Given the description of an element on the screen output the (x, y) to click on. 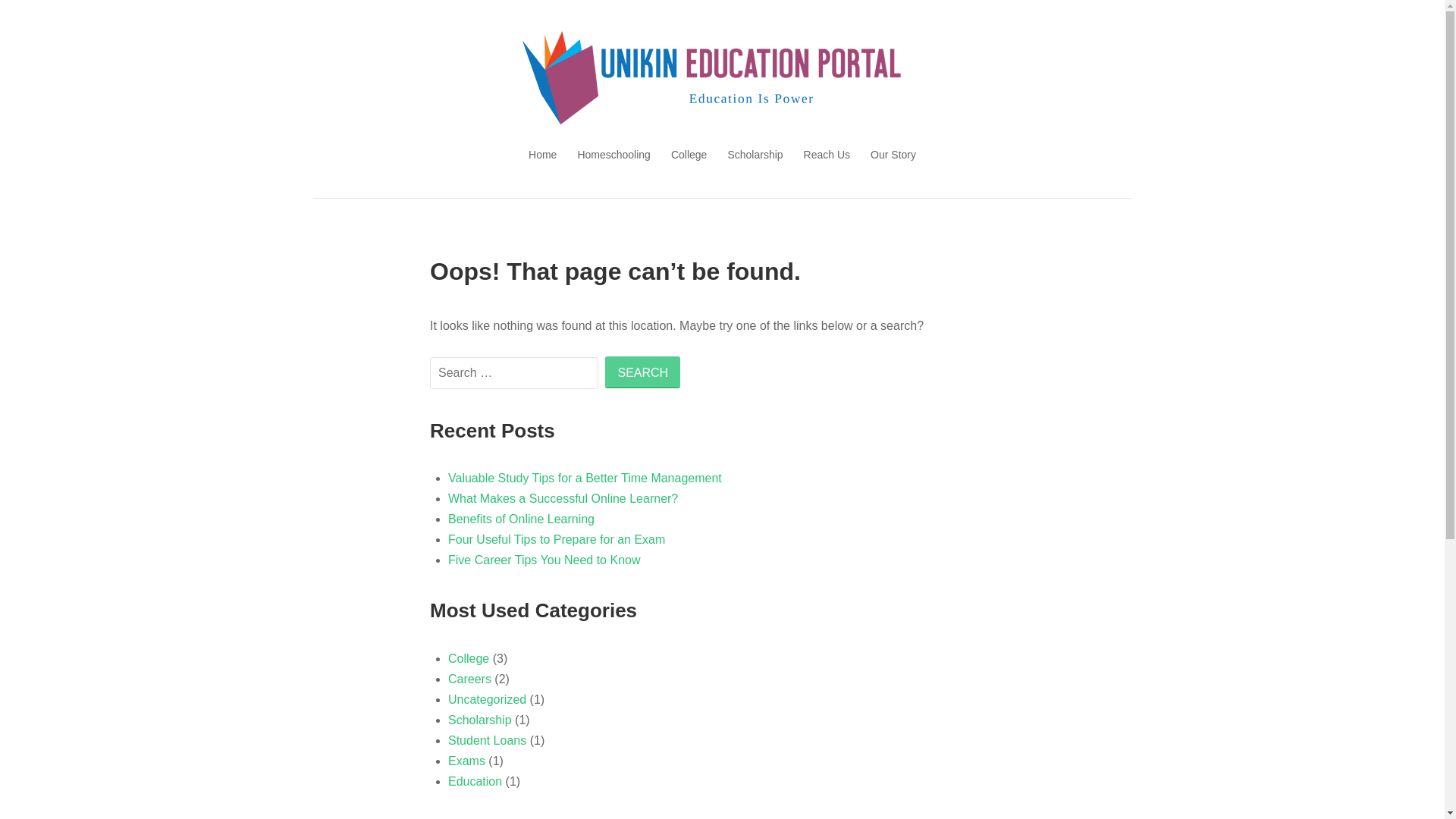
What Makes a Successful Online Learner? Element type: text (562, 498)
Home Element type: text (542, 154)
Uncategorized Element type: text (487, 699)
Benefits of Online Learning Element type: text (521, 518)
College Element type: text (468, 658)
Homeschooling Element type: text (613, 154)
Careers Element type: text (469, 678)
Scholarship Element type: text (754, 154)
Four Useful Tips to Prepare for an Exam Element type: text (556, 539)
Search Element type: text (642, 371)
Valuable Study Tips for a Better Time Management Element type: text (584, 477)
Five Career Tips You Need to Know Element type: text (544, 559)
College Element type: text (688, 154)
Our Story Element type: text (893, 154)
Student Loans Element type: text (487, 740)
Reach Us Element type: text (826, 154)
Exams Element type: text (466, 760)
Education Element type: text (475, 781)
Scholarship Element type: text (479, 719)
